Given the description of an element on the screen output the (x, y) to click on. 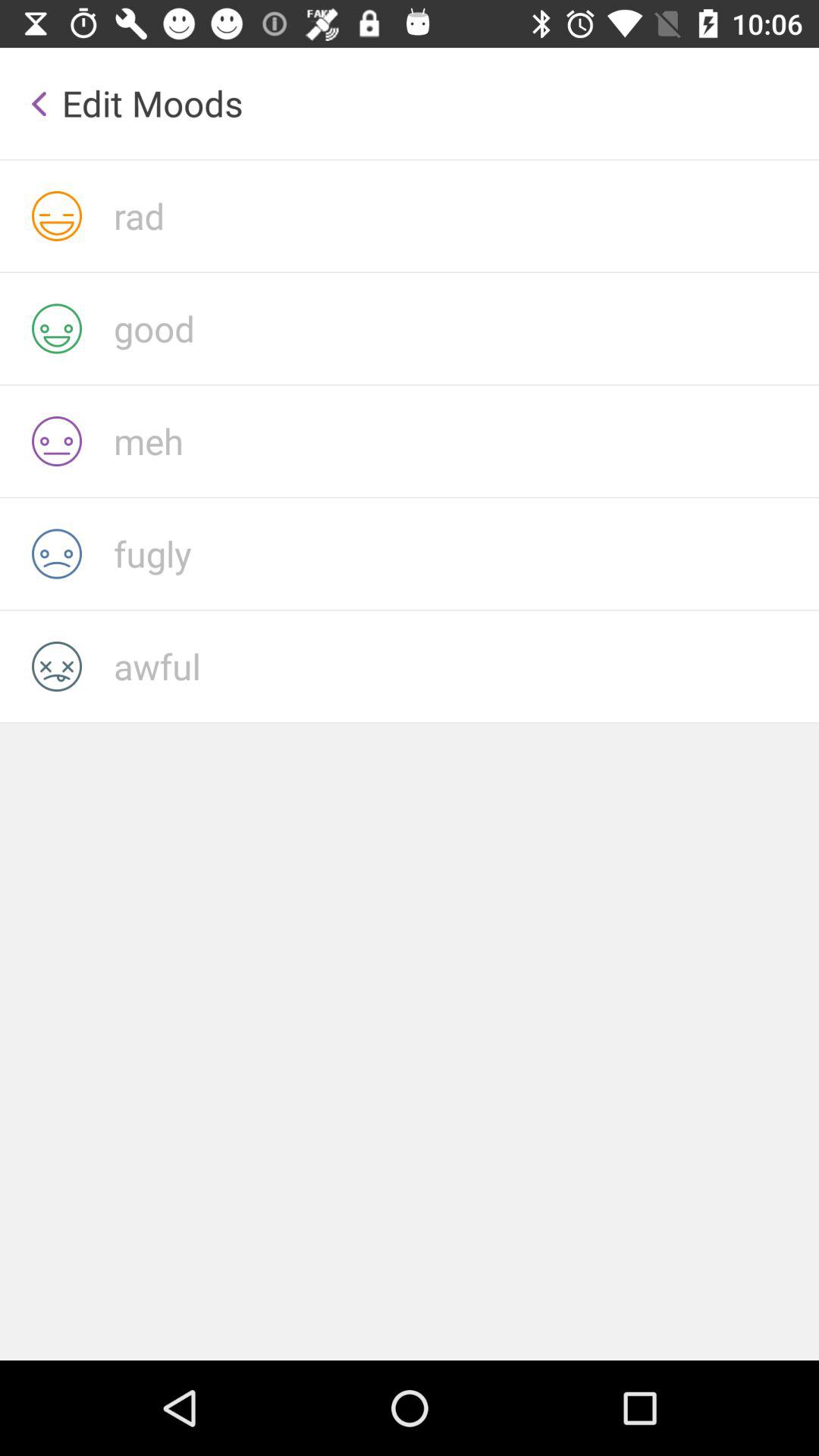
select fugly with current mood (466, 553)
